Given the description of an element on the screen output the (x, y) to click on. 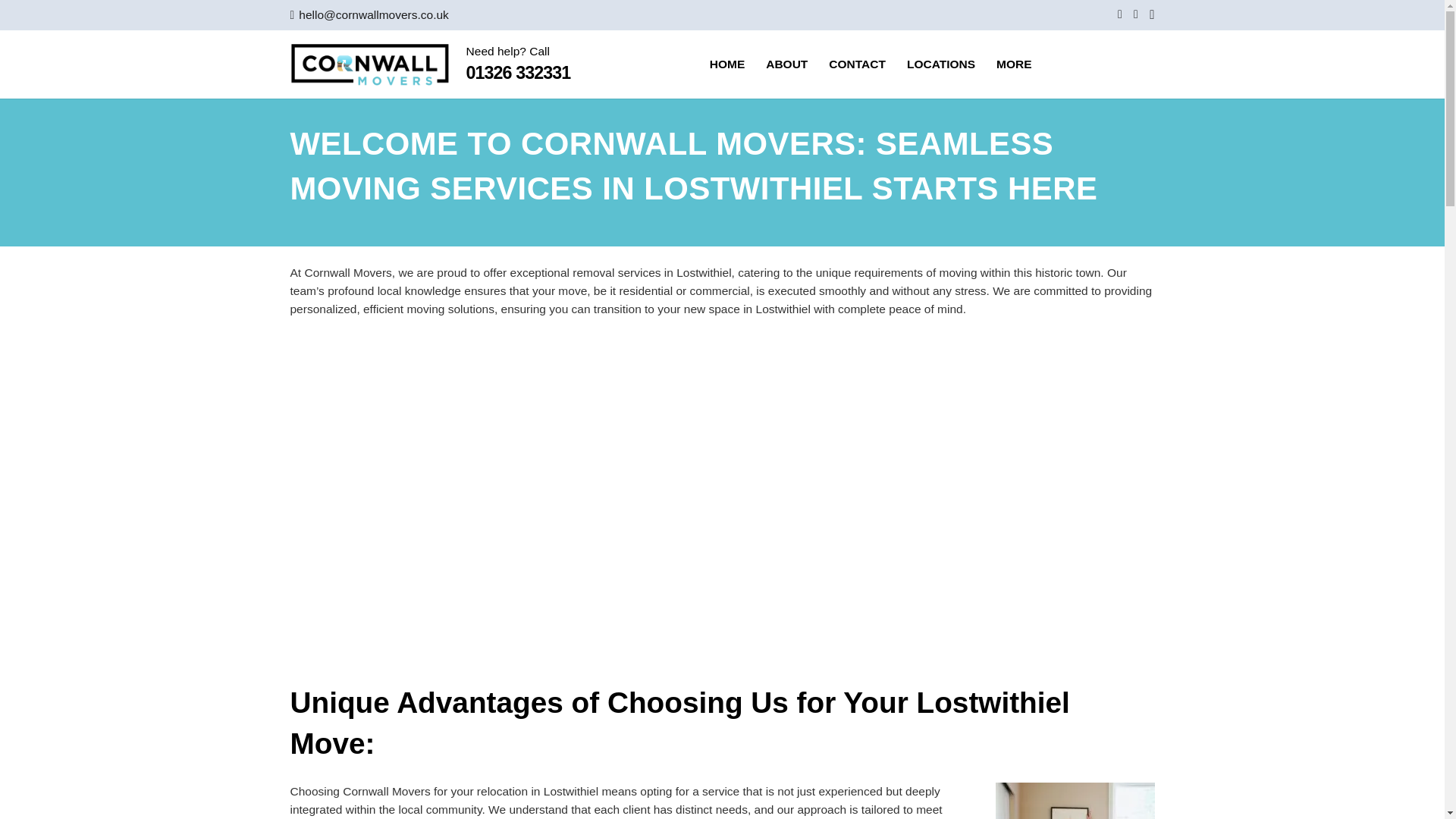
CONTACT (857, 64)
01326 332331 (517, 72)
LOCATIONS (940, 64)
HOME (726, 64)
MORE (1013, 64)
ABOUT (786, 64)
